Given the description of an element on the screen output the (x, y) to click on. 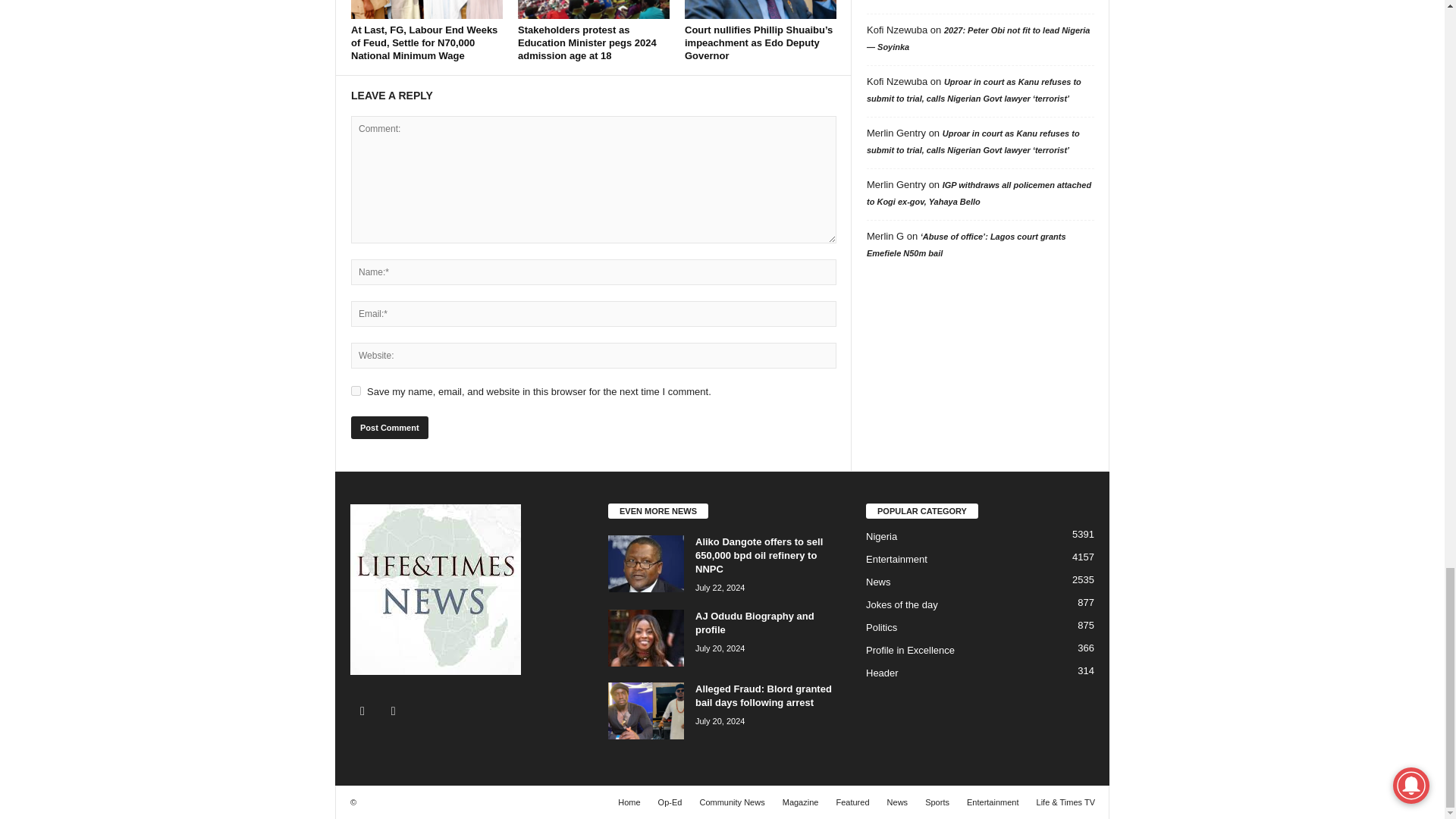
Post Comment (389, 427)
yes (355, 390)
